Given the description of an element on the screen output the (x, y) to click on. 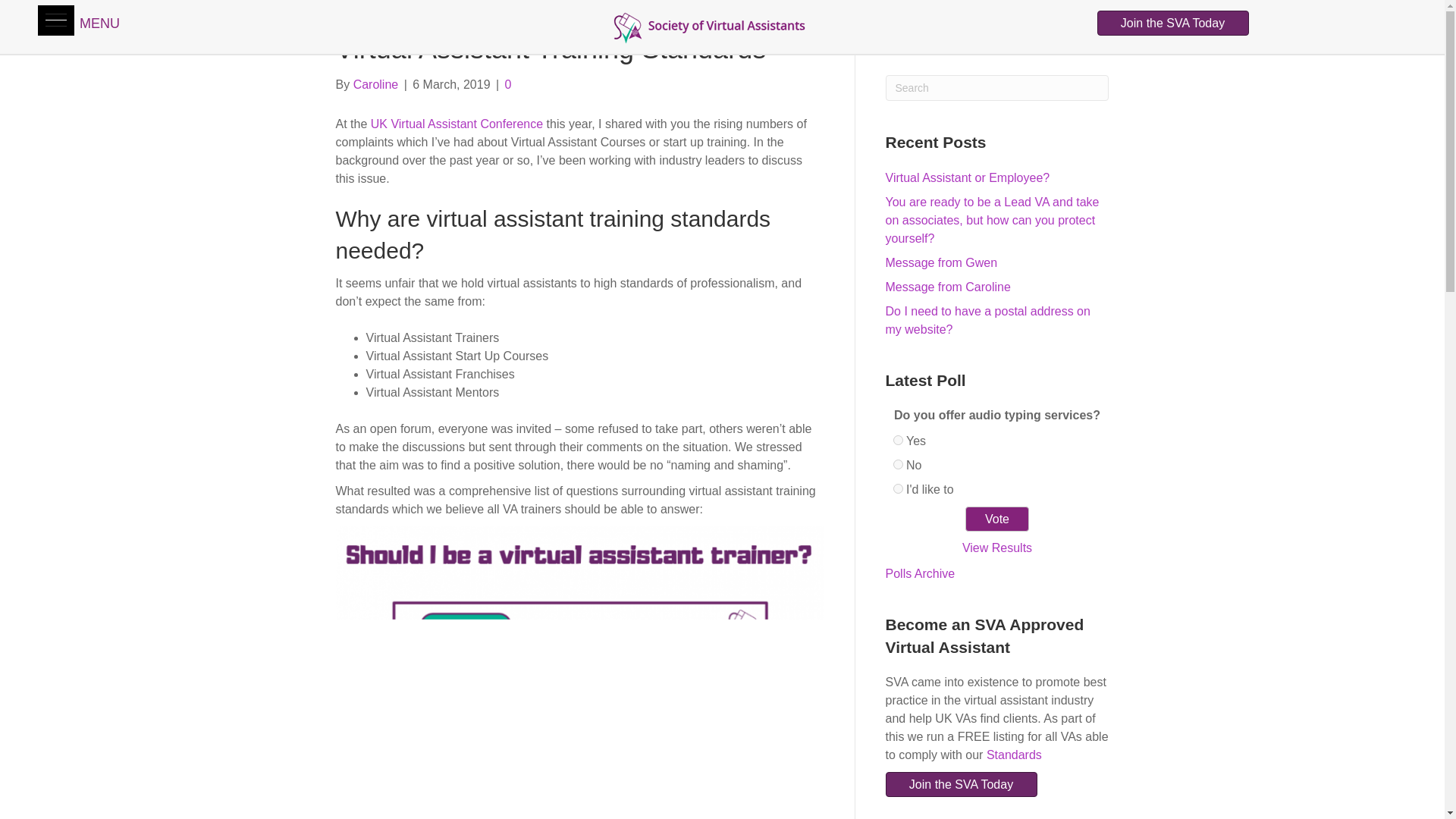
Caroline (375, 83)
   Vote    (997, 518)
111 (897, 488)
Type and press Enter to search. (1021, 666)
Type and press Enter to search. (997, 87)
UK Virtual Assistant Conference (457, 123)
View Results Of This Poll (997, 547)
109 (897, 439)
110 (897, 464)
Join the SVA Today (1171, 23)
